Given the description of an element on the screen output the (x, y) to click on. 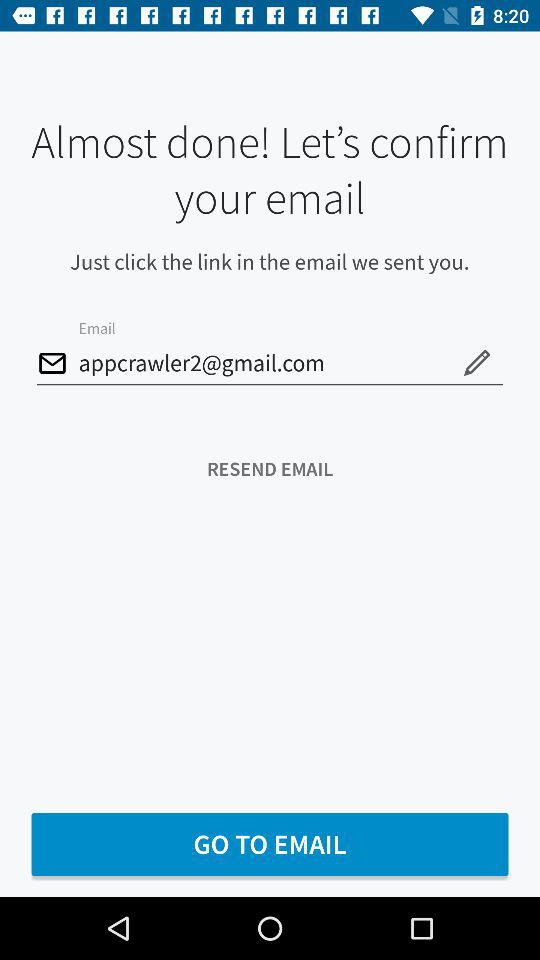
click the icon below appcrawler2@gmail.com icon (269, 468)
